Given the description of an element on the screen output the (x, y) to click on. 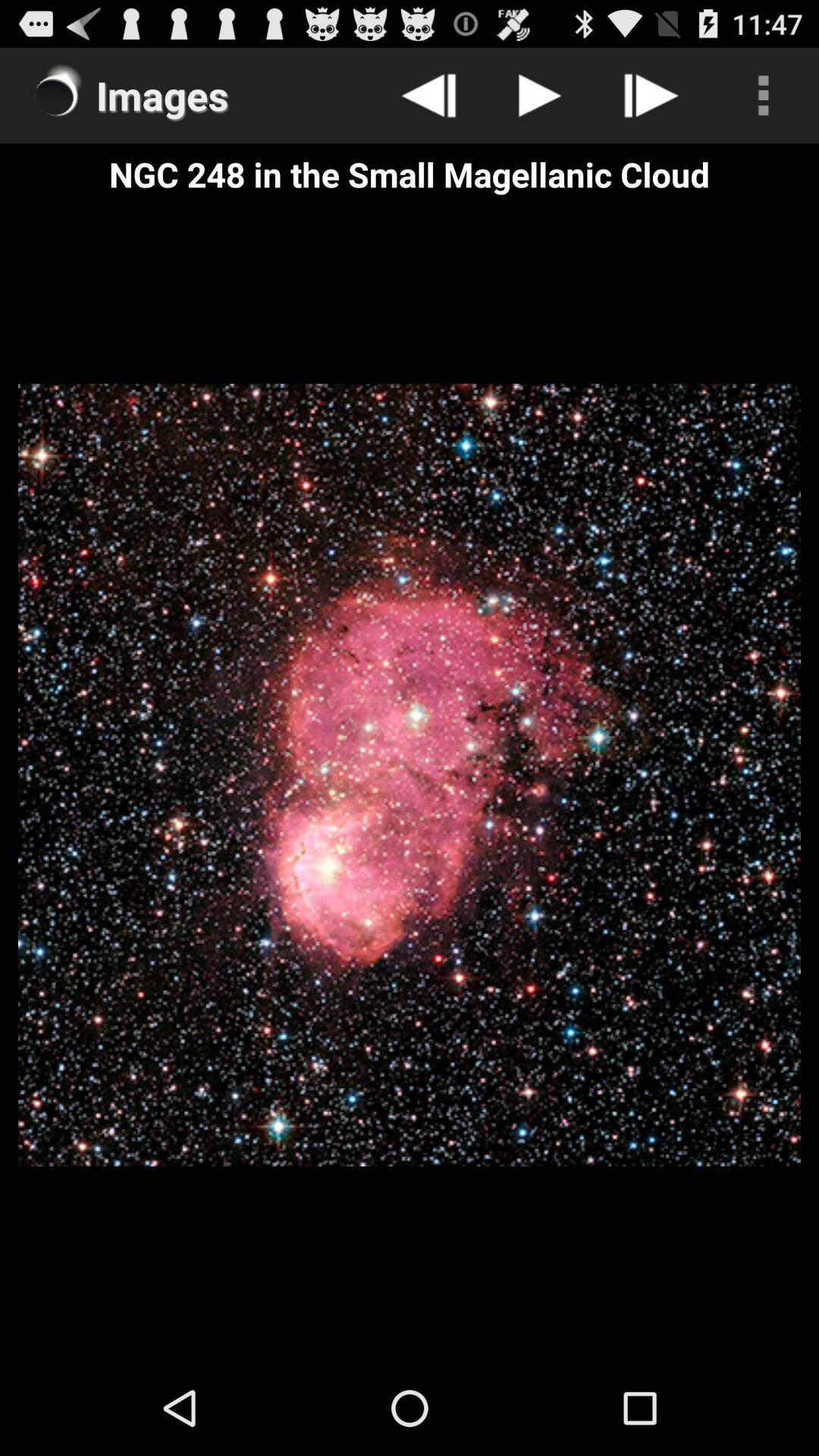
choose item above ngc 248 in icon (540, 95)
